Given the description of an element on the screen output the (x, y) to click on. 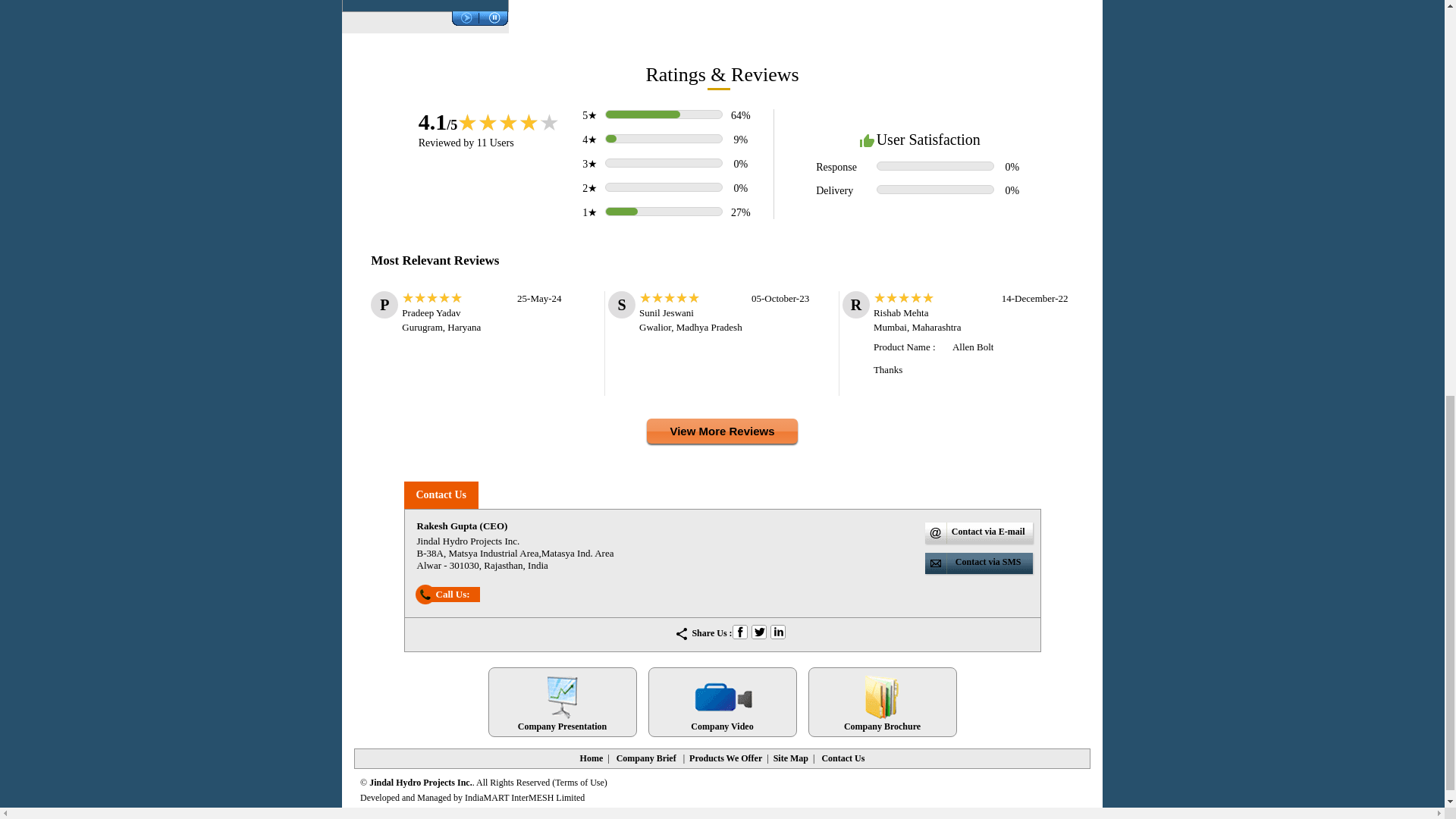
4.1 out of 5 Votes (438, 121)
